Given the description of an element on the screen output the (x, y) to click on. 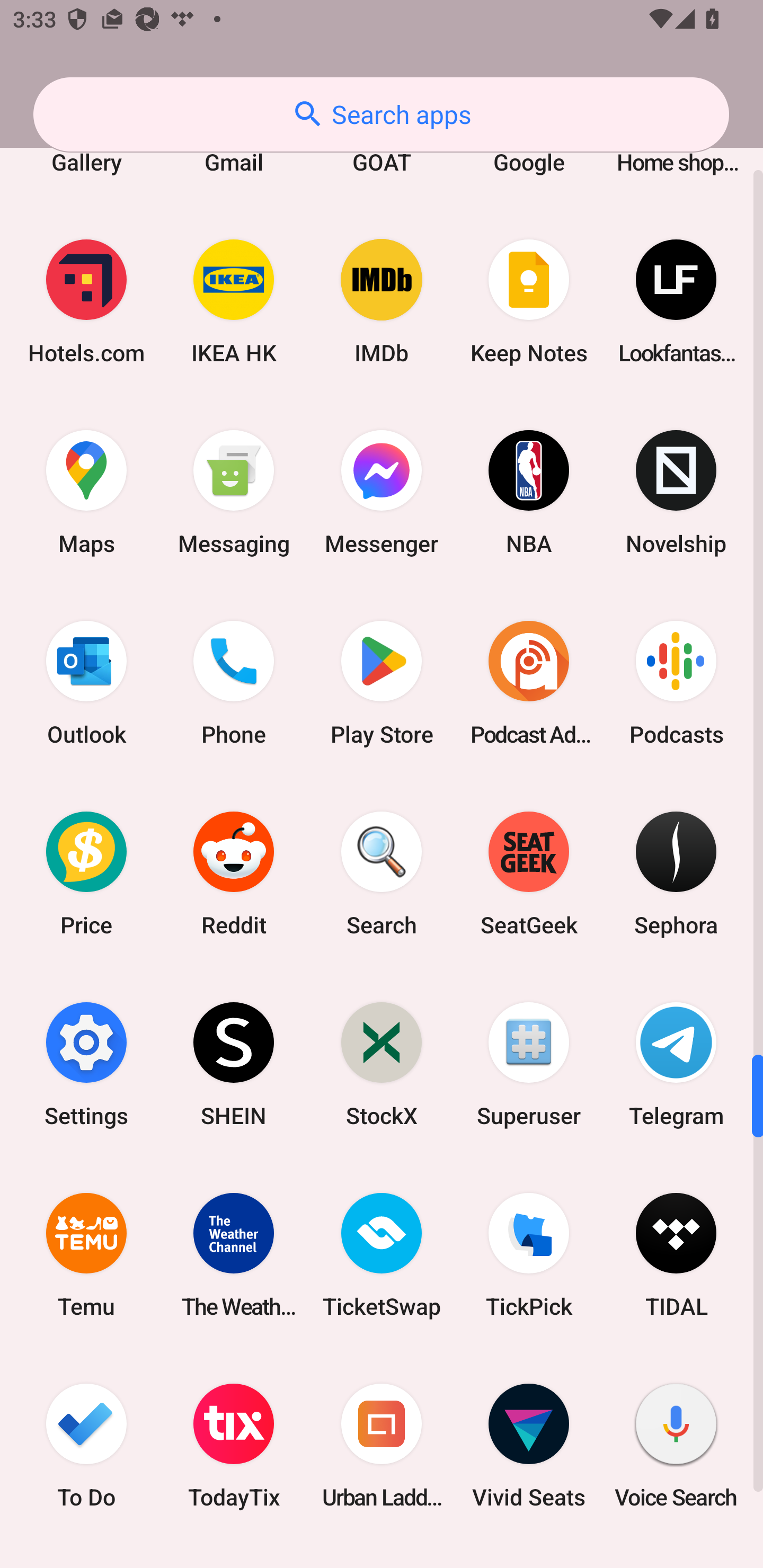
To Do (86, 1445)
